Given the description of an element on the screen output the (x, y) to click on. 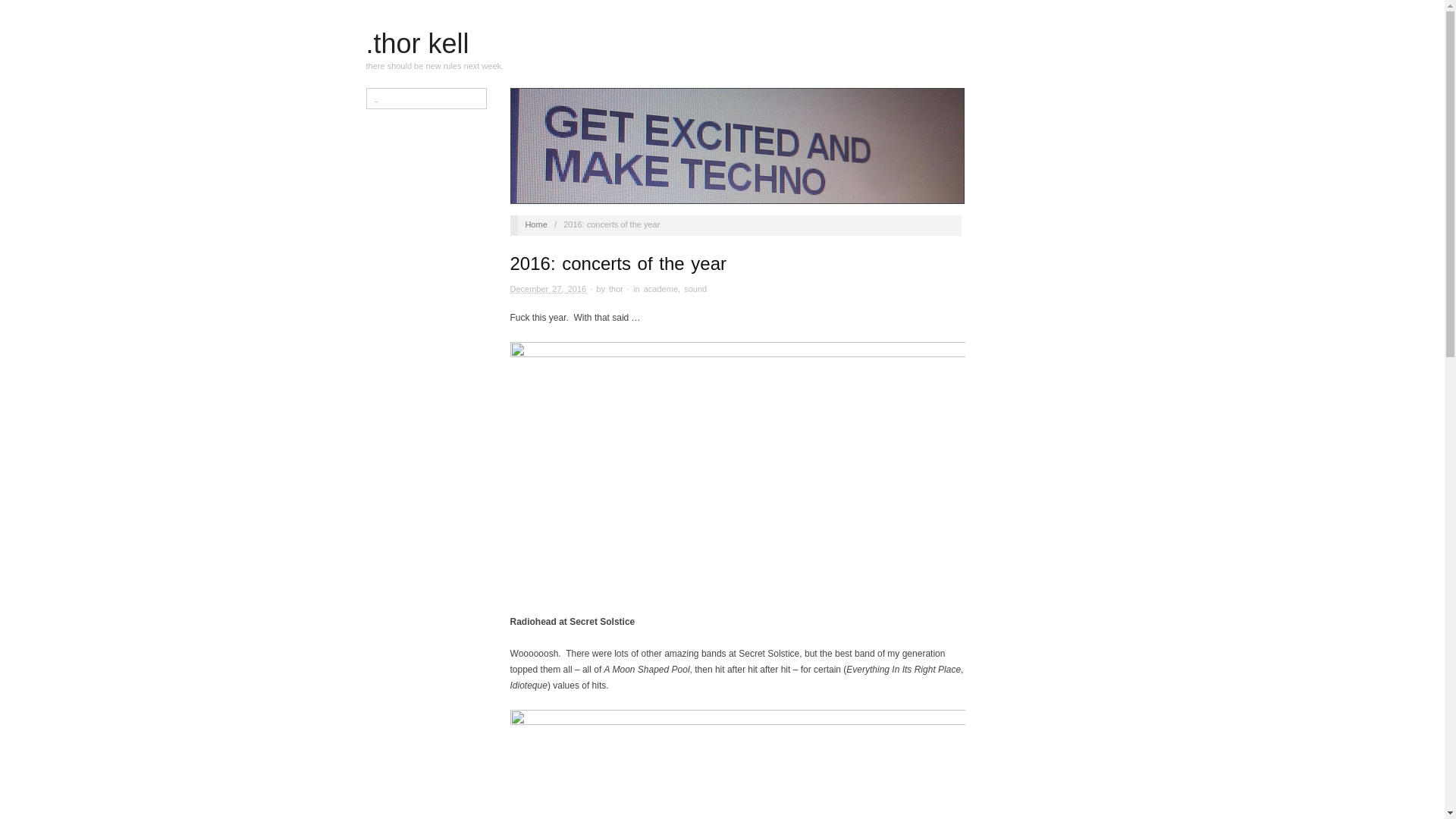
.thor kell (416, 42)
Home (535, 224)
Tuesday, December 27th, 2016, 12:00 pm (548, 288)
Search (24, 10)
.thor kell (535, 224)
thor (615, 288)
academe (660, 288)
.thor kell (416, 42)
sound (695, 288)
thor (615, 288)
